Given the description of an element on the screen output the (x, y) to click on. 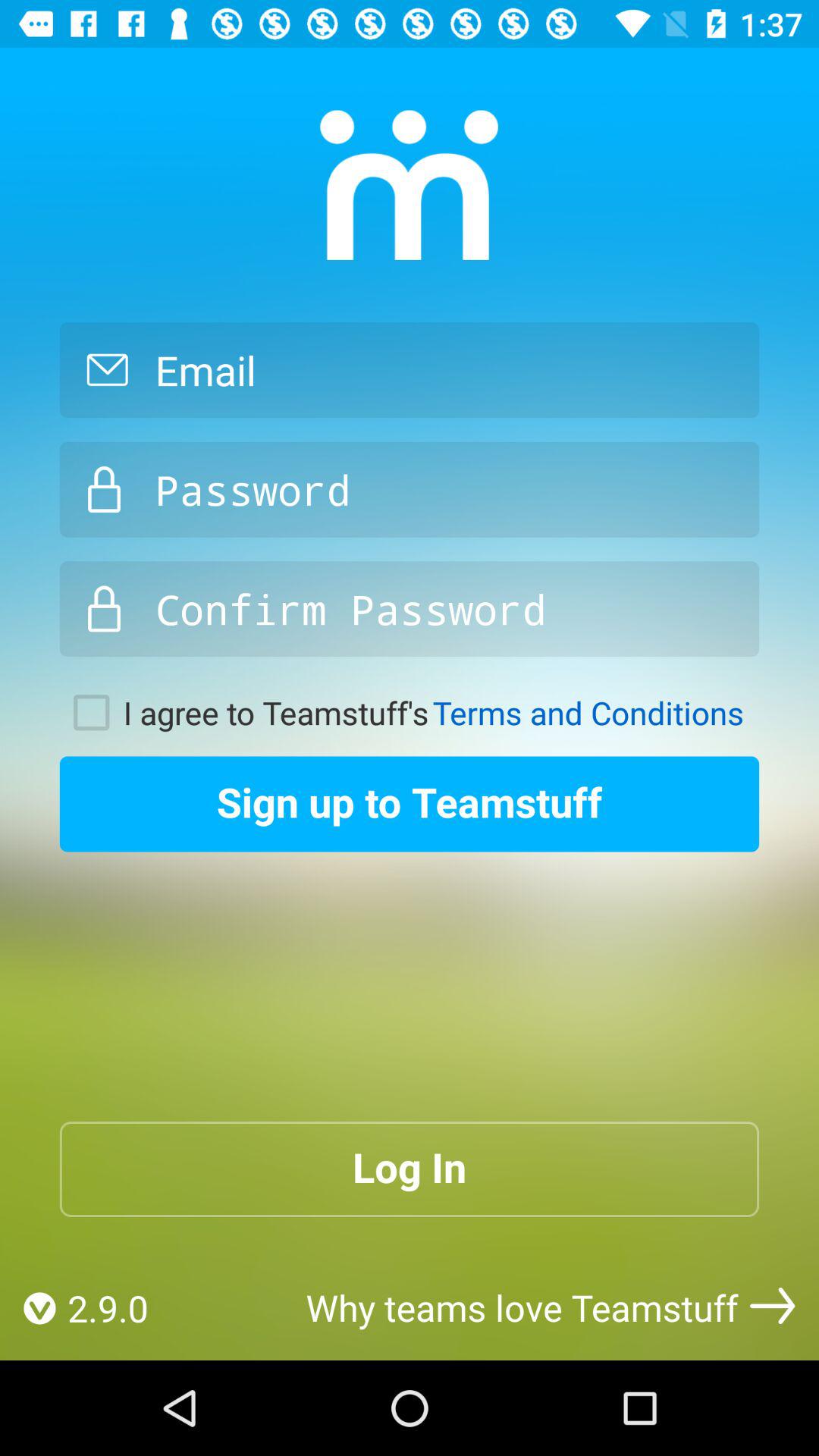
password box (409, 489)
